Given the description of an element on the screen output the (x, y) to click on. 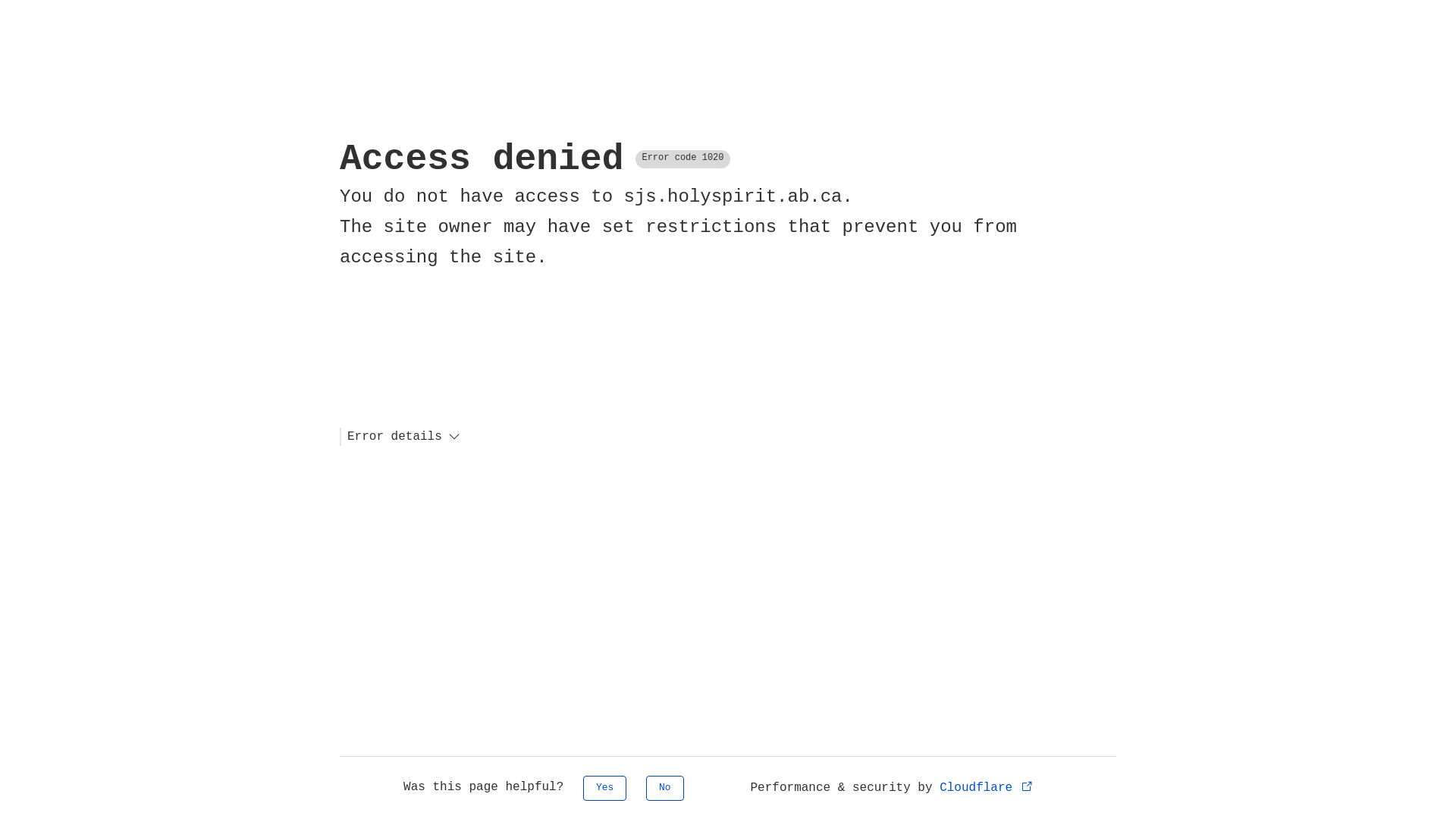
Opens in new tab Element type: hover (1027, 785)
Cloudflare Element type: text (986, 787)
No Element type: text (665, 787)
Yes Element type: text (604, 787)
